Given the description of an element on the screen output the (x, y) to click on. 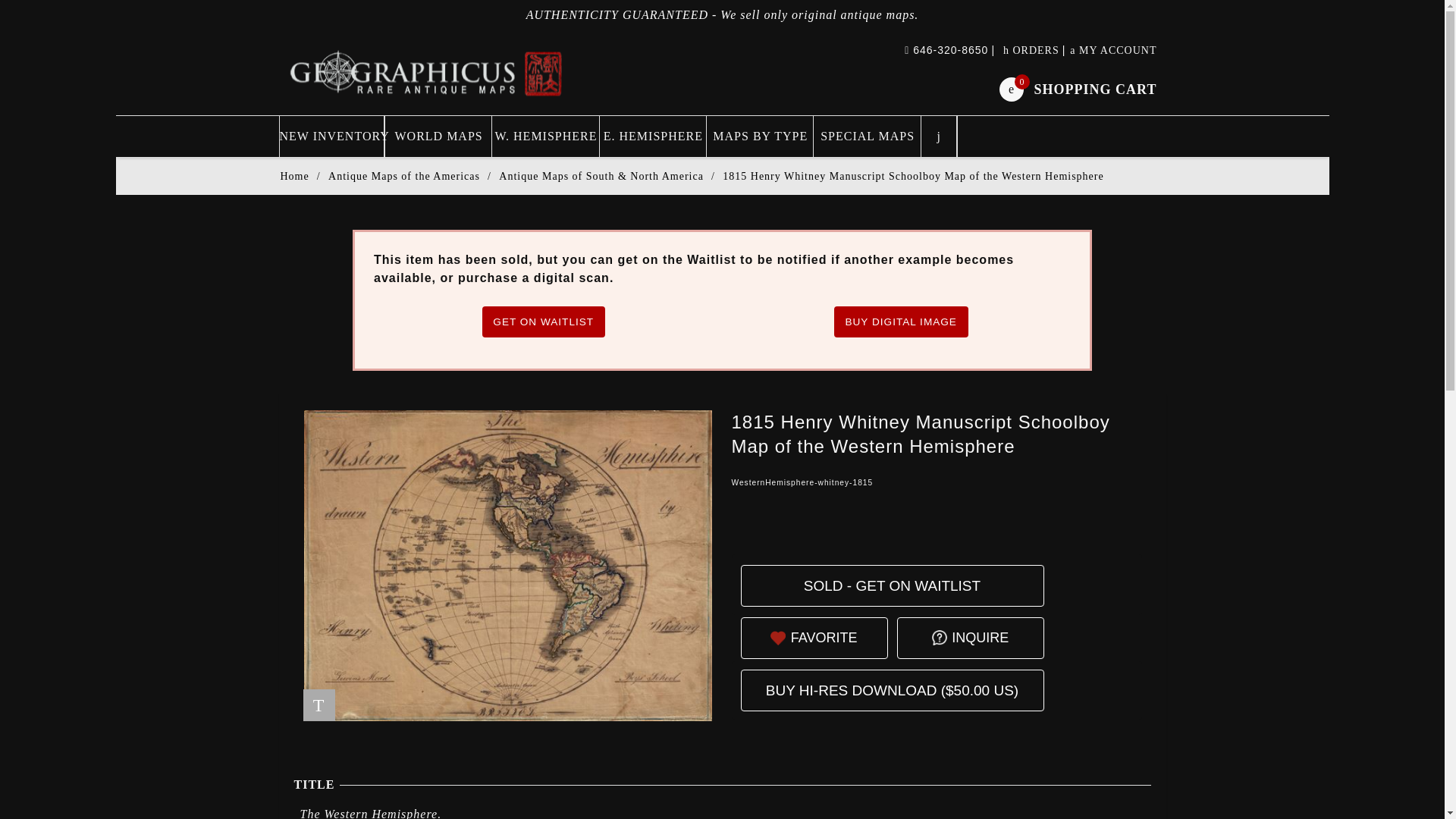
Geographicus Rare Antique Maps (427, 72)
INQUIRE (980, 638)
ORDERS (1031, 50)
NEW INVENTORY (331, 136)
FAVORITE (1077, 88)
Antique Maps of the Americas (823, 638)
SOLD - GET ON WAITLIST (404, 175)
Home (891, 585)
Geographicus Rare Antique Maps (294, 175)
